Given the description of an element on the screen output the (x, y) to click on. 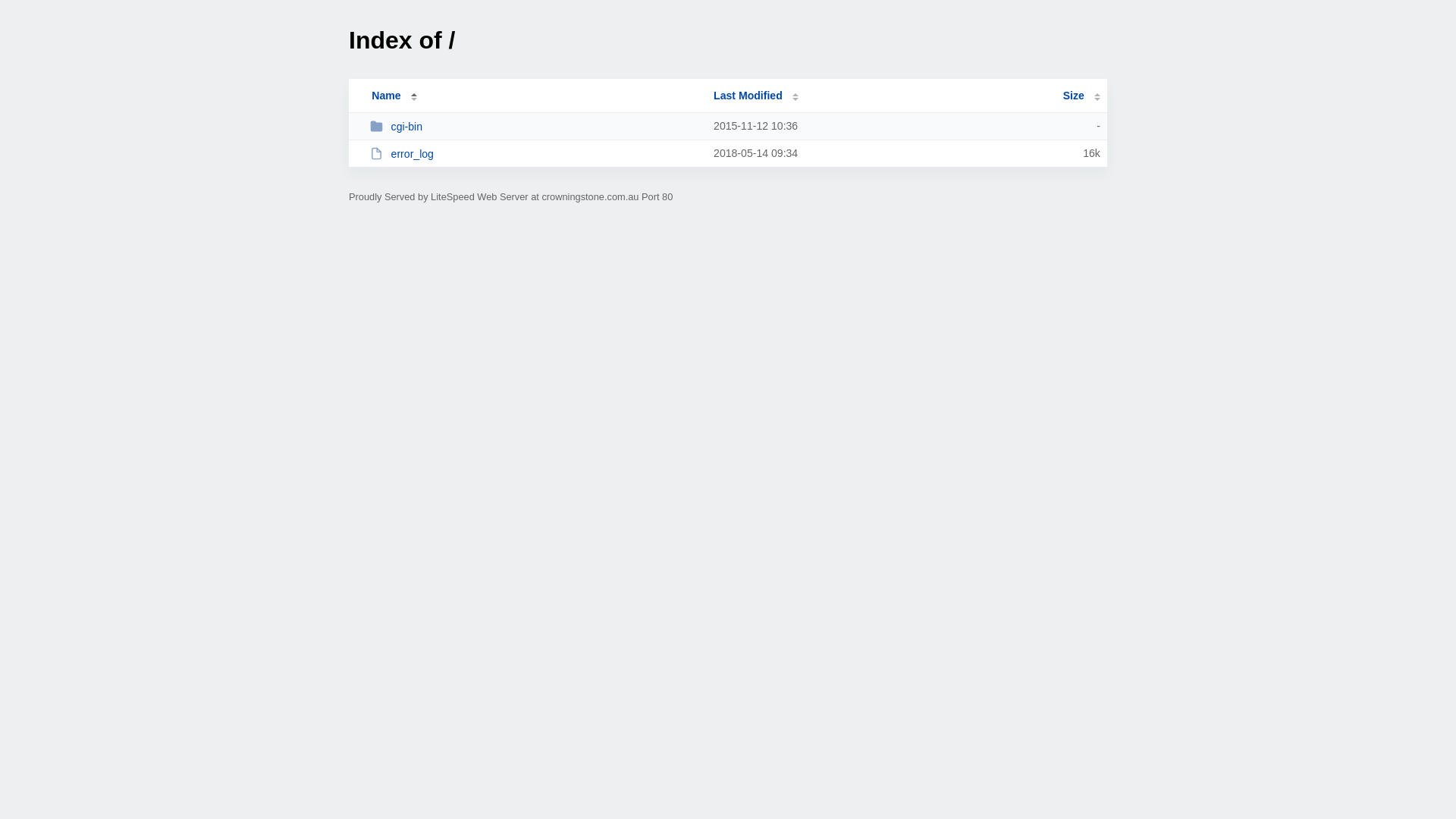
Last Modified Element type: text (755, 95)
error_log Element type: text (534, 153)
Name Element type: text (385, 95)
cgi-bin Element type: text (534, 125)
Size Element type: text (1081, 95)
